Given the description of an element on the screen output the (x, y) to click on. 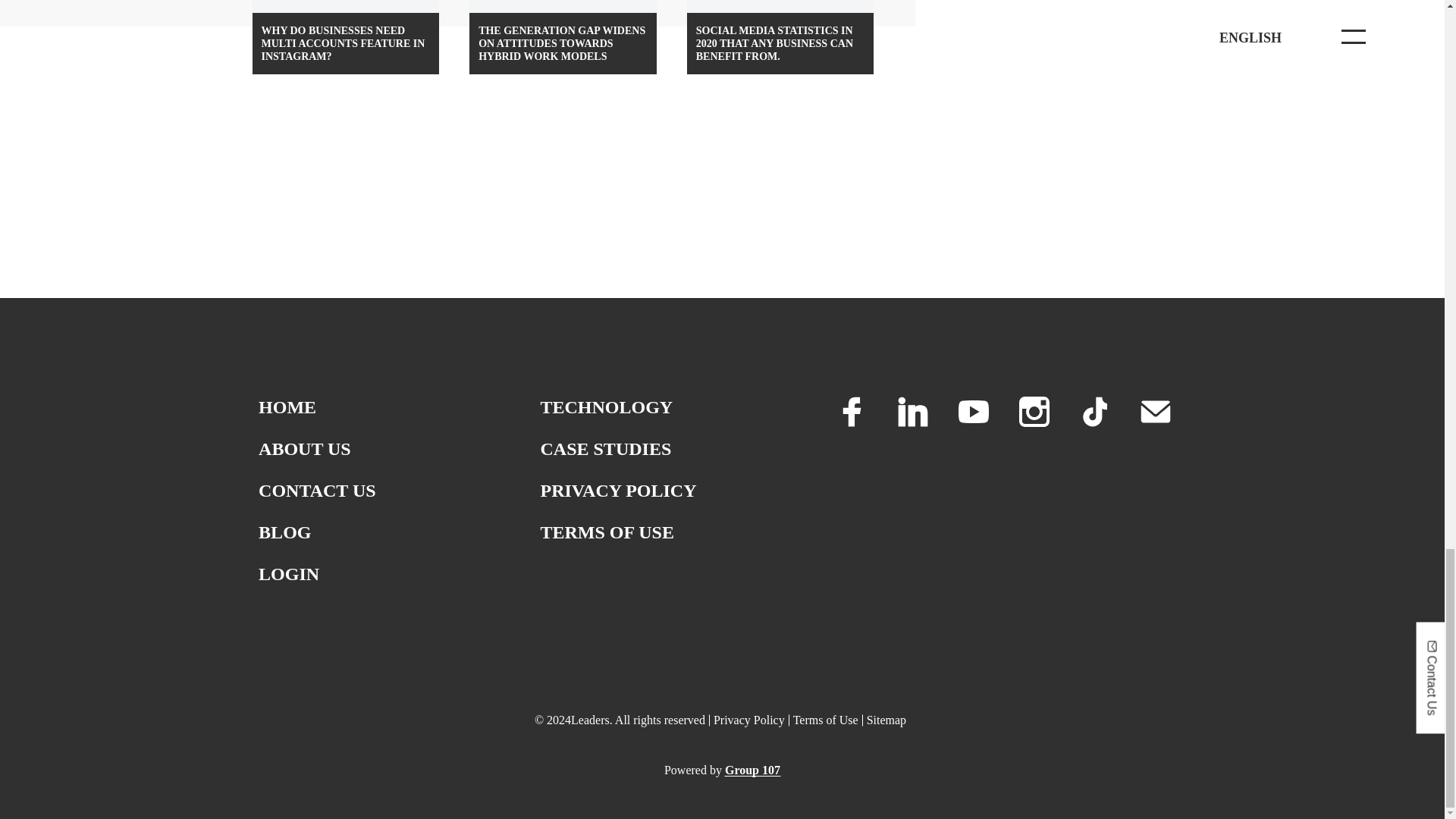
BLOG (285, 532)
CONTACT US (317, 490)
LOGIN (288, 573)
WHY DO BUSINESSES NEED MULTI ACCOUNTS FEATURE IN INSTAGRAM? (345, 37)
CASE STUDIES (605, 448)
ABOUT US (304, 448)
TECHNOLOGY (606, 406)
HOME (287, 406)
